Given the description of an element on the screen output the (x, y) to click on. 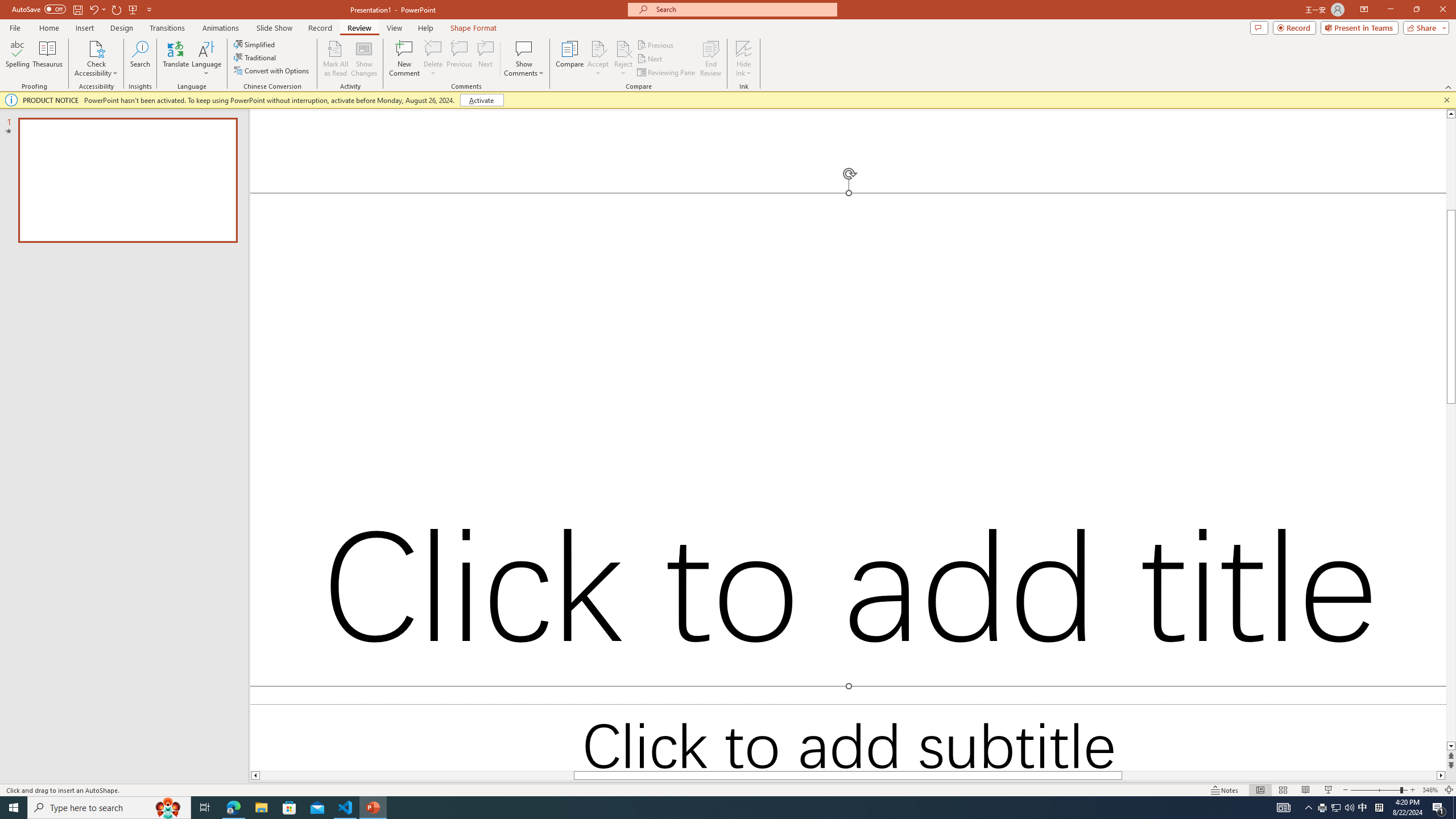
End Review (710, 58)
Accept Change (598, 48)
Next (649, 58)
Reject (622, 58)
